Given the description of an element on the screen output the (x, y) to click on. 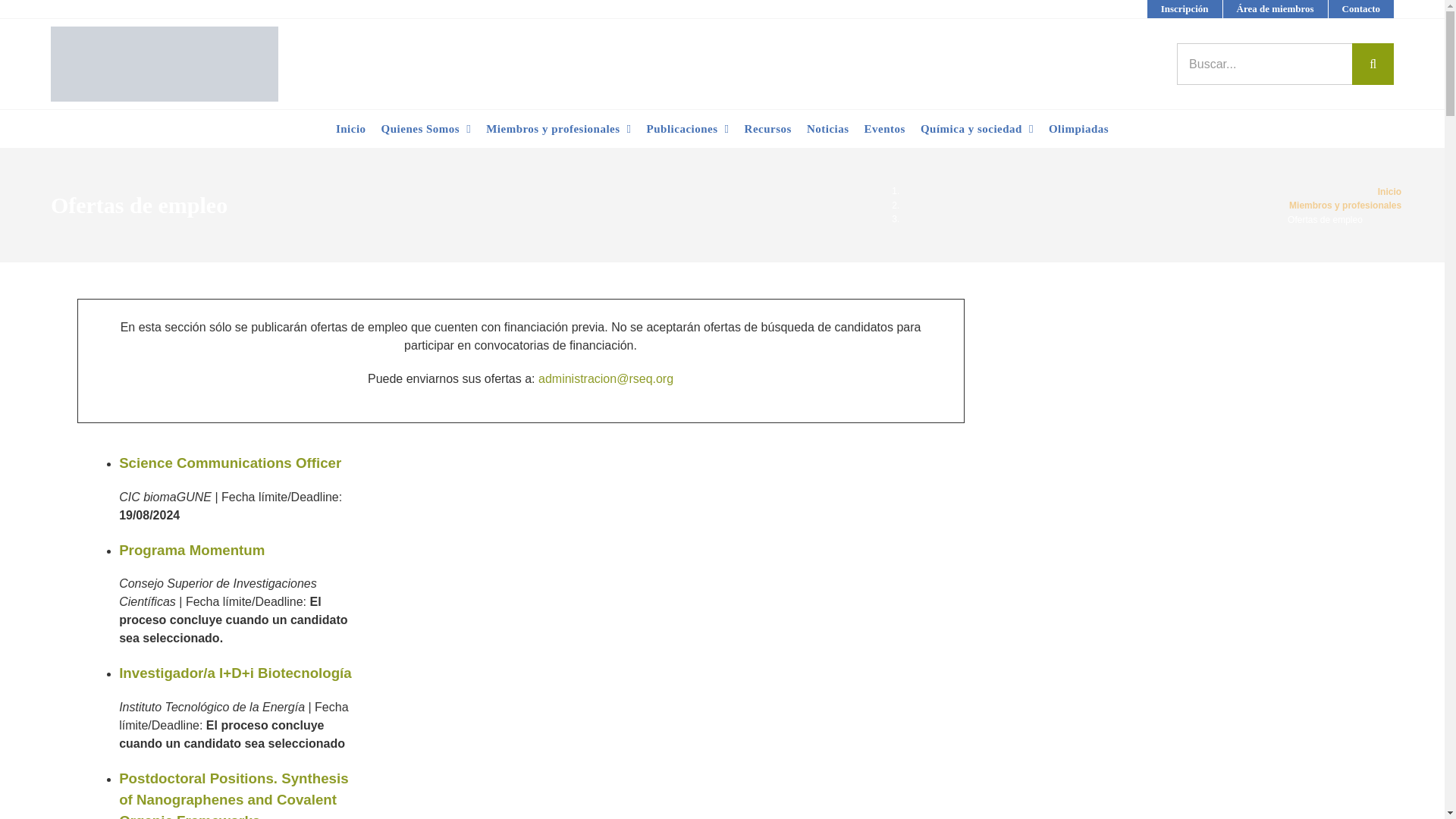
Science Communications Officer (229, 462)
Contacta con nosotros. (1360, 9)
Olimpiadas (1078, 128)
Noticias (828, 128)
Eventos (884, 128)
Miembros y profesionales (559, 128)
Consulta como hacerte miembro. (1185, 9)
Inicio (351, 128)
Programa Momentum (191, 549)
Publicaciones (687, 128)
Contacto (1360, 9)
Recursos (767, 128)
Quienes Somos (426, 128)
